Given the description of an element on the screen output the (x, y) to click on. 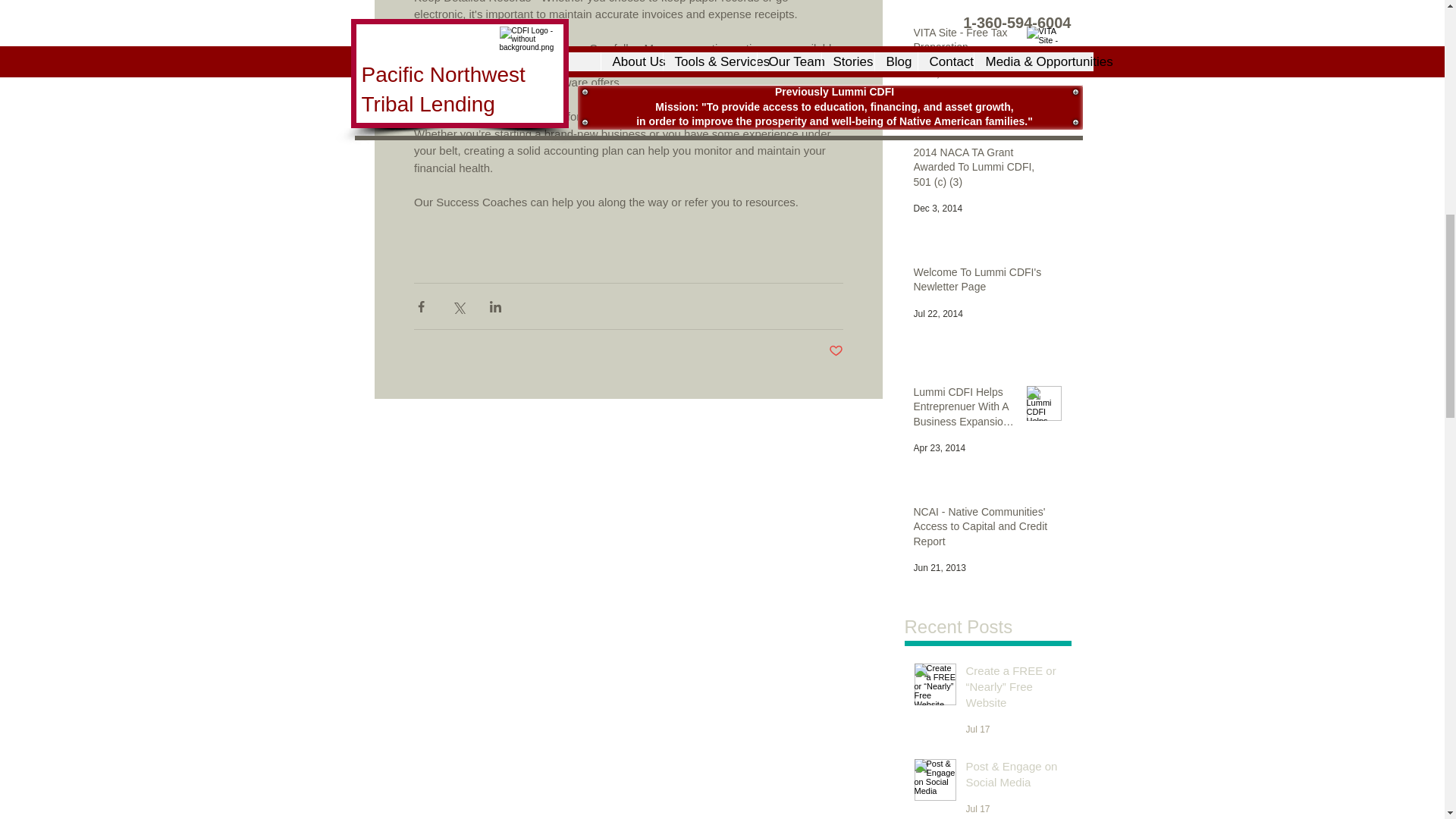
Feb 3, 2015 (936, 73)
Dec 3, 2014 (937, 208)
Jun 21, 2013 (938, 567)
Welcome To Lummi CDFI's Newletter Page (981, 283)
Jul 17 (978, 728)
Apr 23, 2014 (938, 448)
VITA Site - Free Tax Preparation (964, 43)
Jul 17 (978, 808)
Jul 22, 2014 (937, 313)
Post not marked as liked (835, 351)
